Given the description of an element on the screen output the (x, y) to click on. 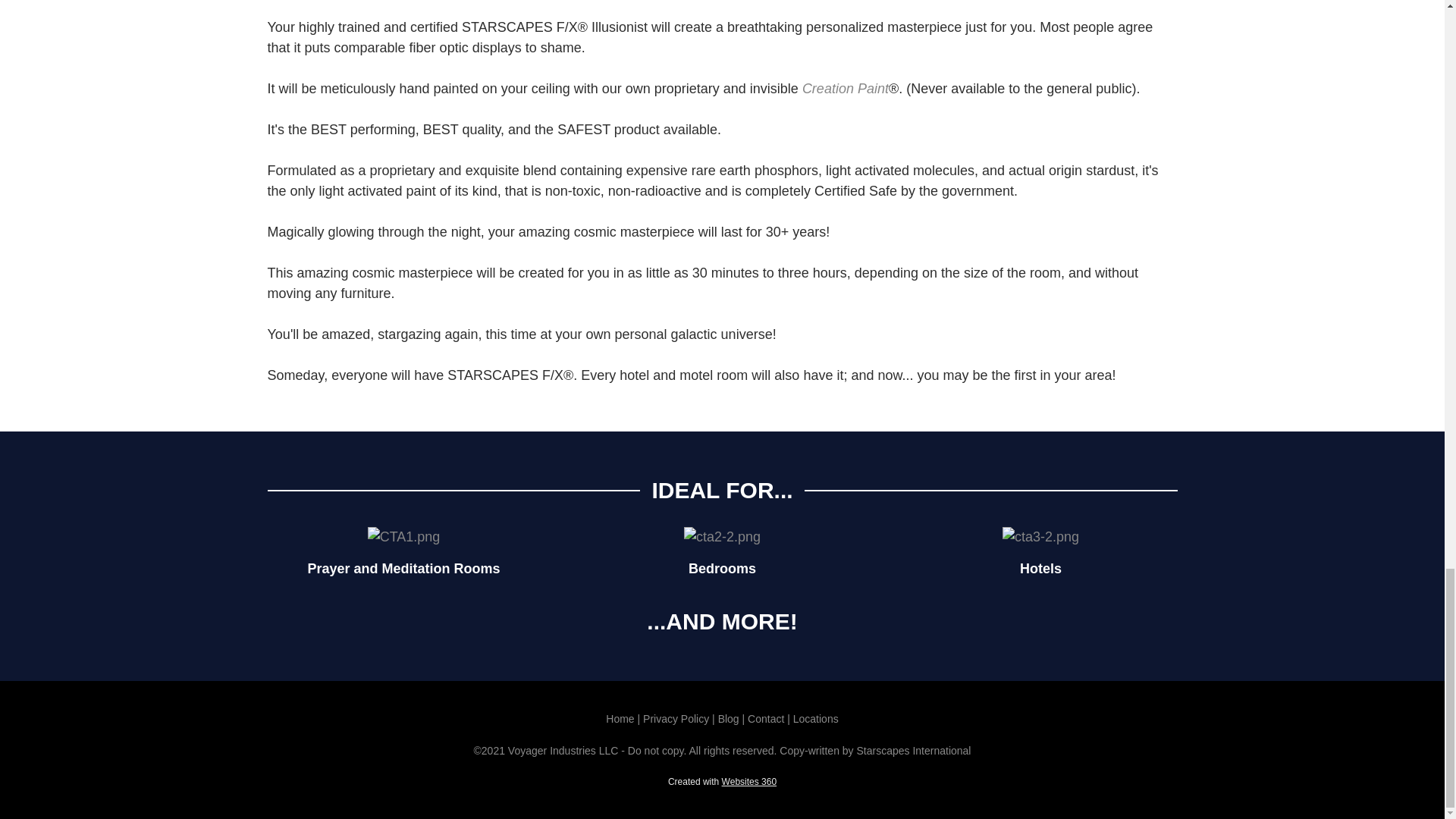
Contact (766, 718)
Privacy Policy (676, 718)
Home (621, 718)
Created with Websites 360 (722, 781)
Locations (815, 718)
Blog (728, 718)
